Given the description of an element on the screen output the (x, y) to click on. 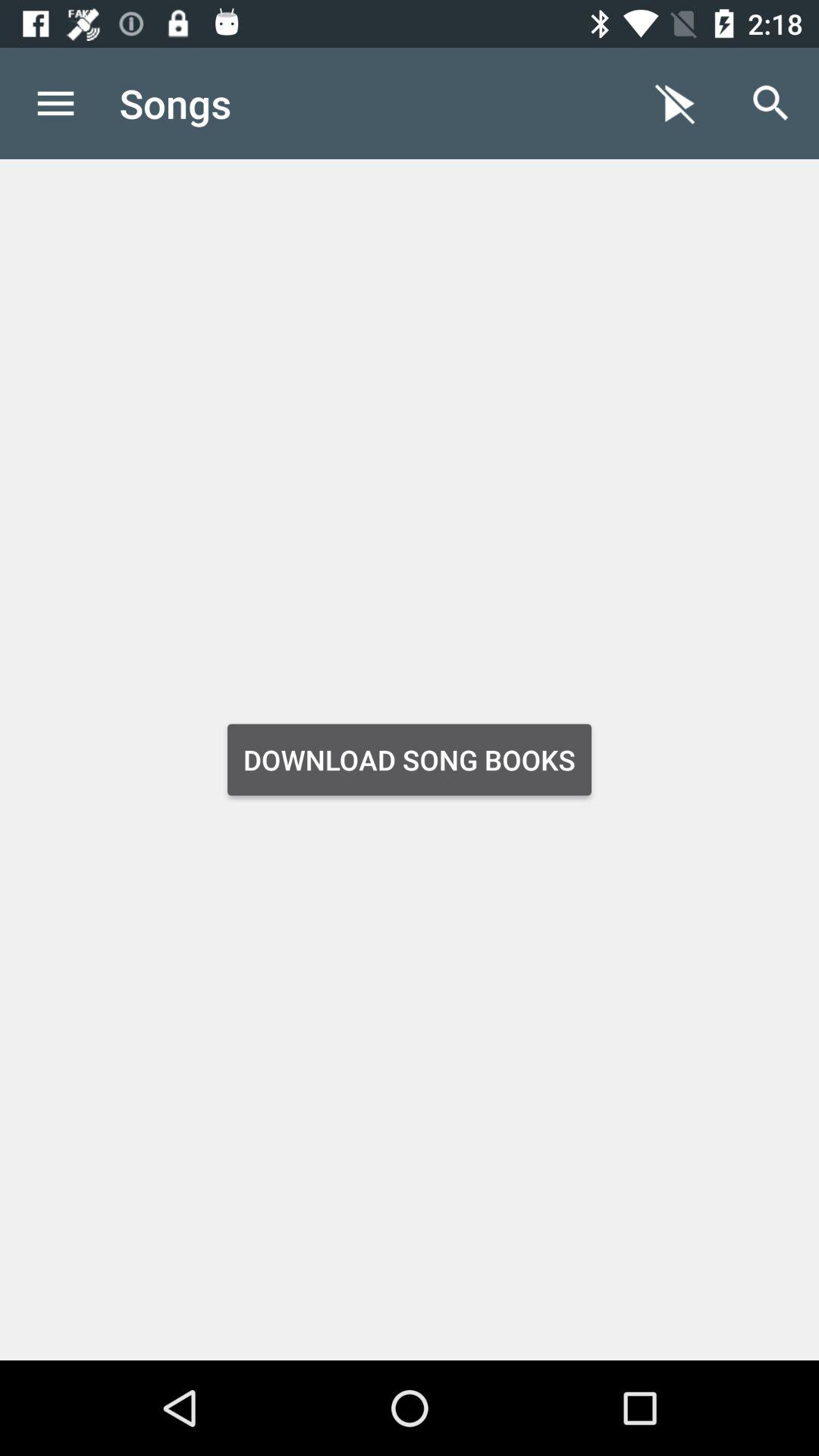
turn off app to the right of songs icon (675, 103)
